Given the description of an element on the screen output the (x, y) to click on. 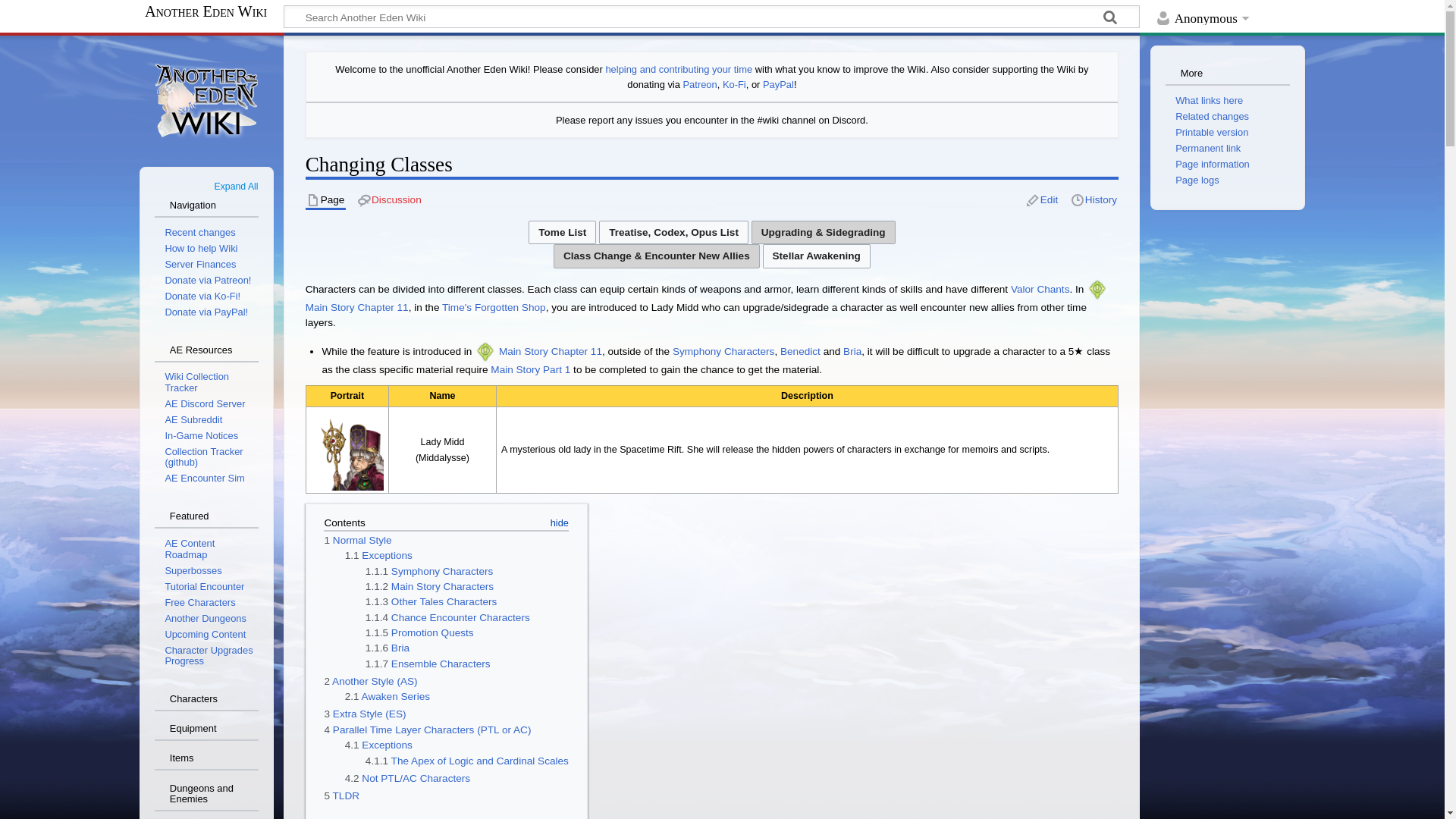
1.1.2 Main Story Characters (429, 586)
Search (1110, 18)
1.1.5 Promotion Quests (419, 632)
Main Story Chapter 11 (357, 307)
1.1.3 Other Tales Characters (431, 601)
Patreon (699, 84)
Search the pages for this text (1110, 18)
1.1.1 Symphony Characters (429, 571)
1.1 Exceptions (378, 555)
How to help Wiki (678, 69)
Valor Chants (1040, 288)
Search (1110, 18)
Benedict (800, 351)
1.1.7 Ensemble Characters (427, 663)
Discussion (389, 200)
